Given the description of an element on the screen output the (x, y) to click on. 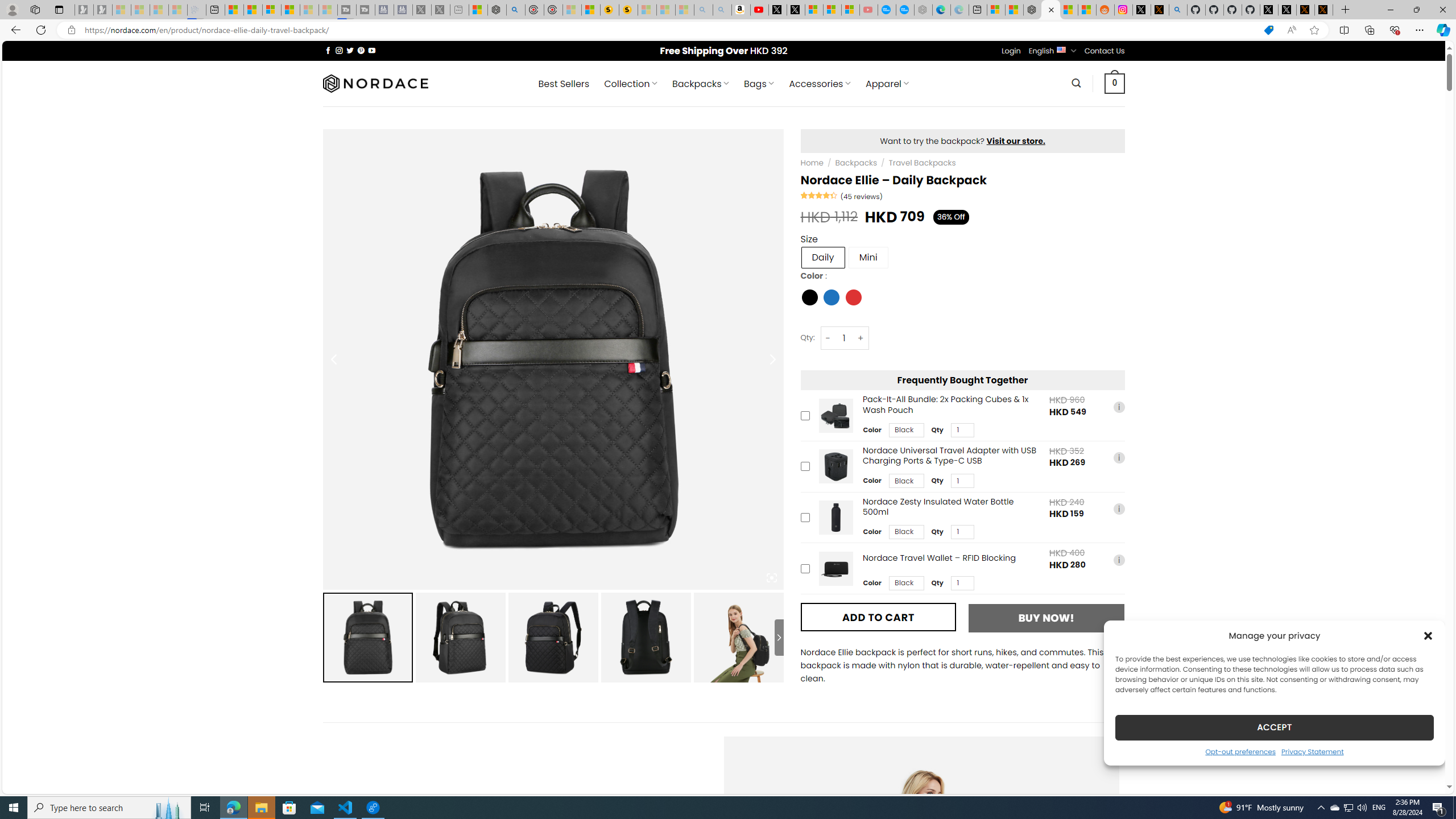
Nordace Ellie - Daily Backpack (1050, 9)
Login (1010, 50)
Microsoft account | Microsoft Account Privacy Settings (996, 9)
This site has coupons! Shopping in Microsoft Edge (1268, 29)
Gloom - YouTube - Sleeping (868, 9)
